Given the description of an element on the screen output the (x, y) to click on. 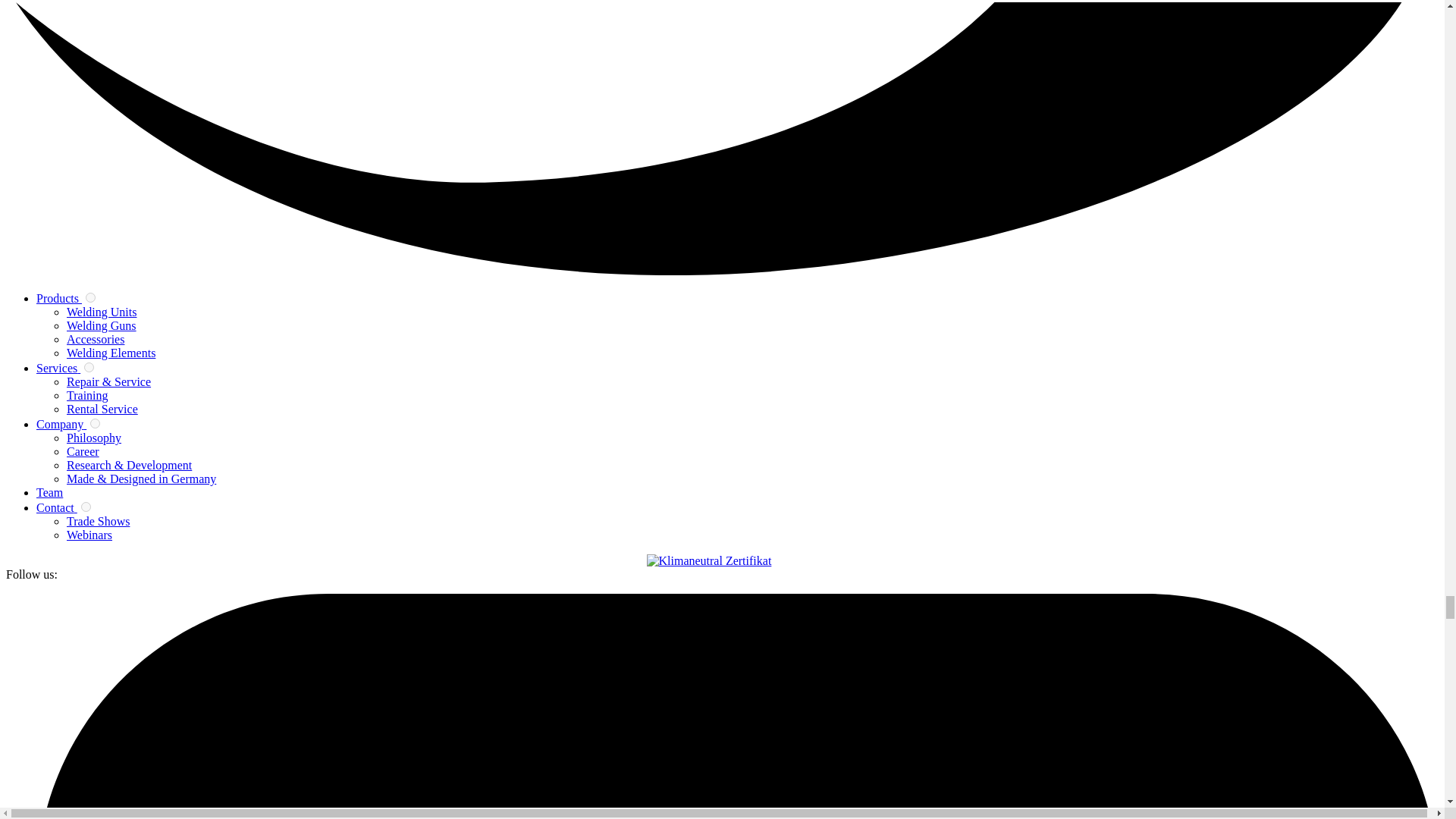
on (85, 506)
on (89, 367)
on (90, 297)
on (95, 423)
